Given the description of an element on the screen output the (x, y) to click on. 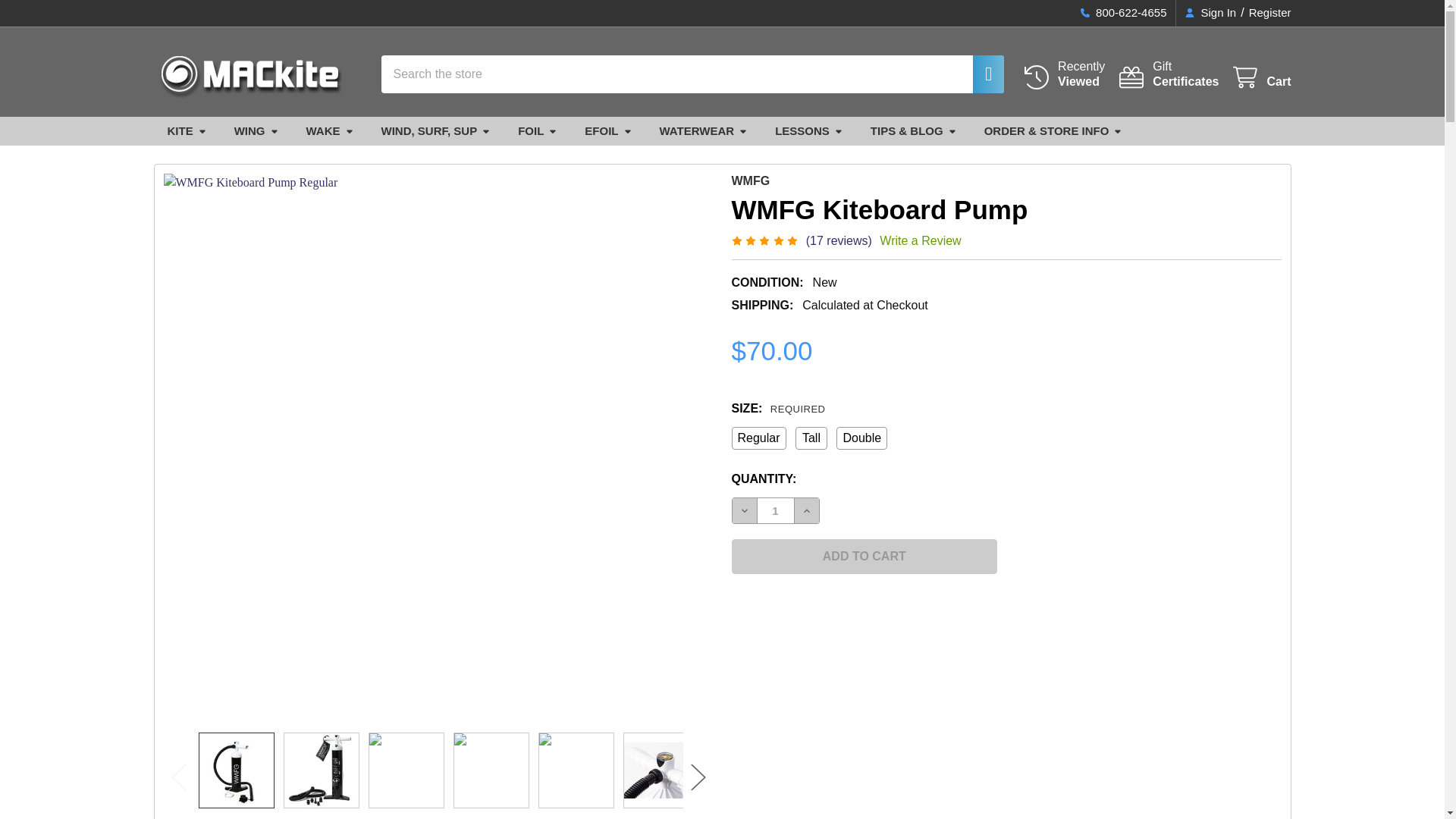
Cart (1260, 77)
KITE (185, 131)
Sign In (1210, 13)
WMFG Kiteboard Pump Regular (235, 770)
WMFG Kiteboard Pump (660, 770)
WMFG Kiteboard Pump (405, 770)
Gift Certificates (1167, 73)
WMFG Kiteboard Pump Tall (1167, 73)
Register (320, 770)
